Given the description of an element on the screen output the (x, y) to click on. 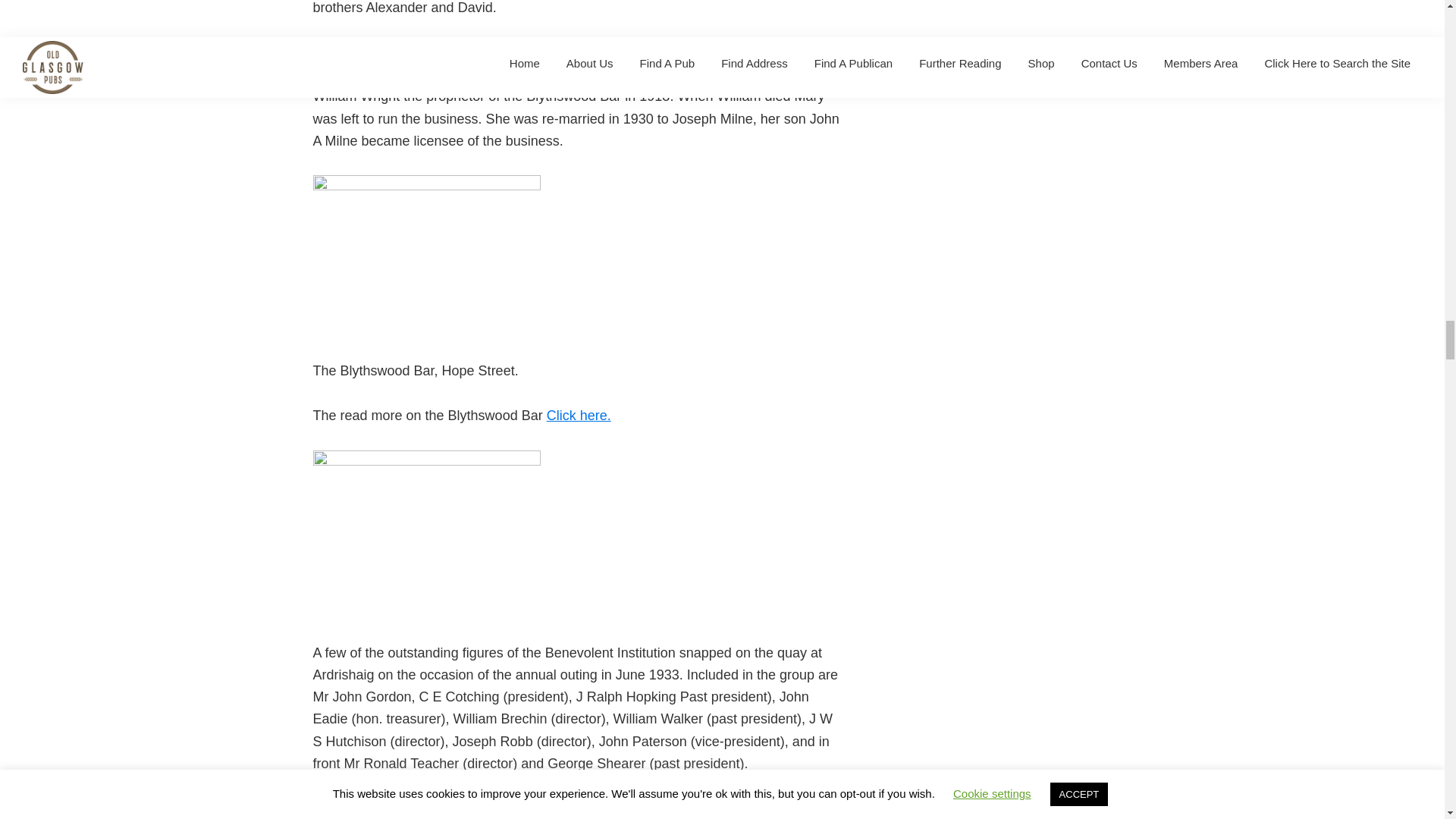
Click here. (579, 415)
